Given the description of an element on the screen output the (x, y) to click on. 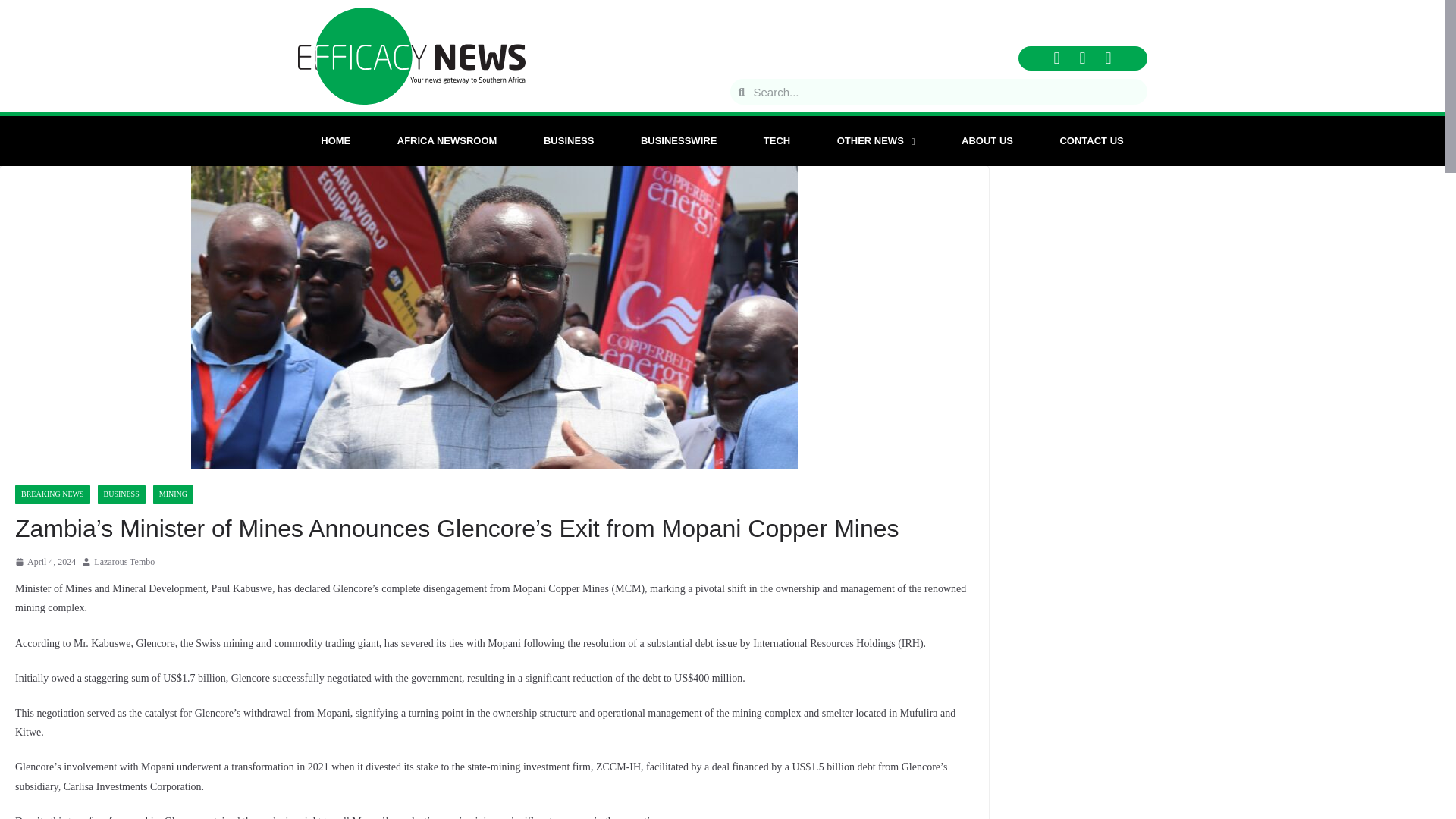
AFRICA NEWSROOM (446, 140)
CONTACT US (1091, 140)
HOME (335, 140)
6:15 am (44, 562)
BUSINESSWIRE (678, 140)
OTHER NEWS (875, 140)
Lazarous Tembo (124, 562)
BUSINESS (568, 140)
ABOUT US (986, 140)
TECH (776, 140)
